Given the description of an element on the screen output the (x, y) to click on. 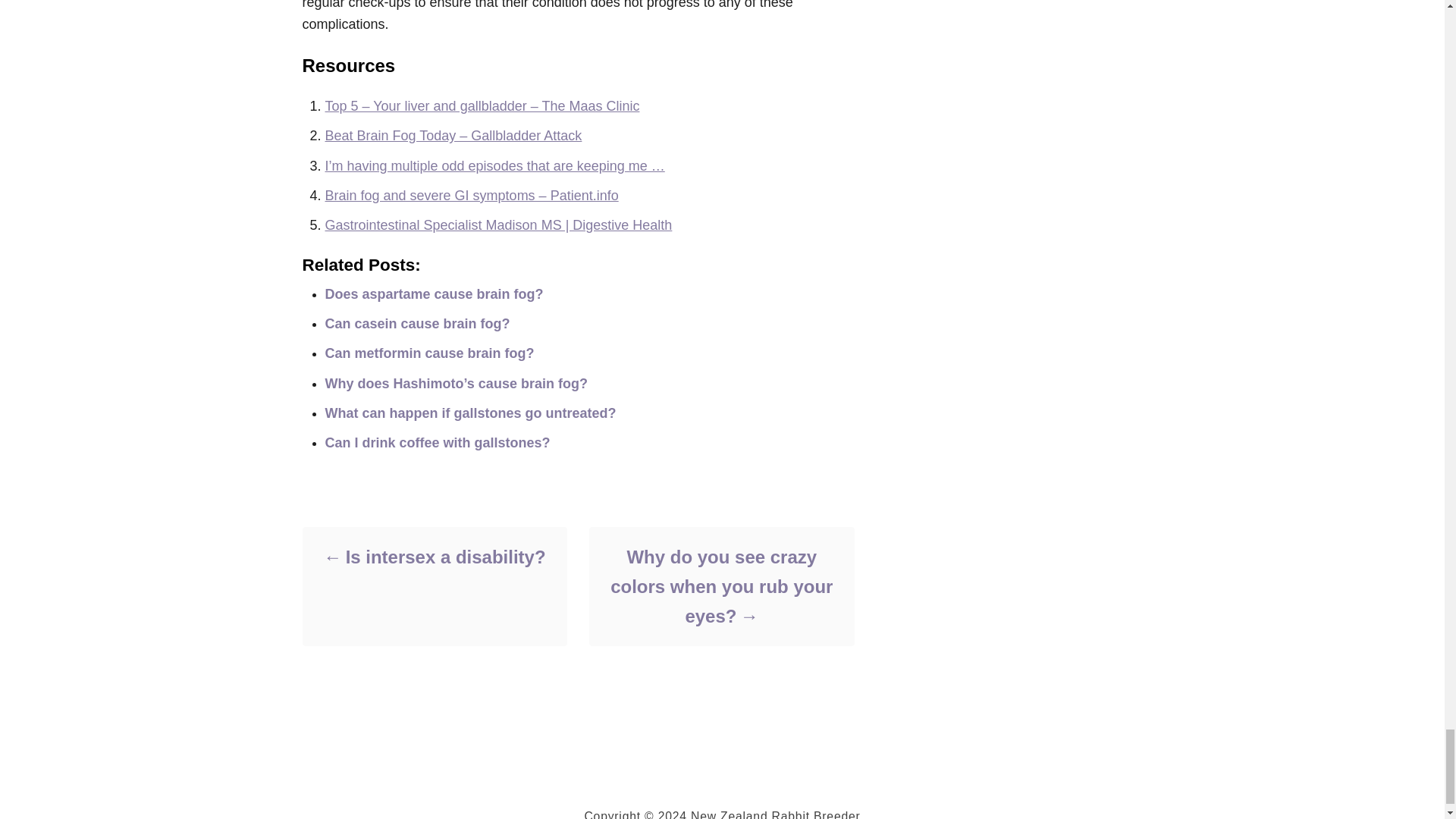
Is intersex a disability? (434, 556)
Can I drink coffee with gallstones? (437, 442)
Can casein cause brain fog? (416, 323)
Why do you see crazy colors when you rub your eyes? (721, 586)
Can metformin cause brain fog? (429, 353)
Does aspartame cause brain fog? (433, 294)
What can happen if gallstones go untreated? (469, 412)
